Given the description of an element on the screen output the (x, y) to click on. 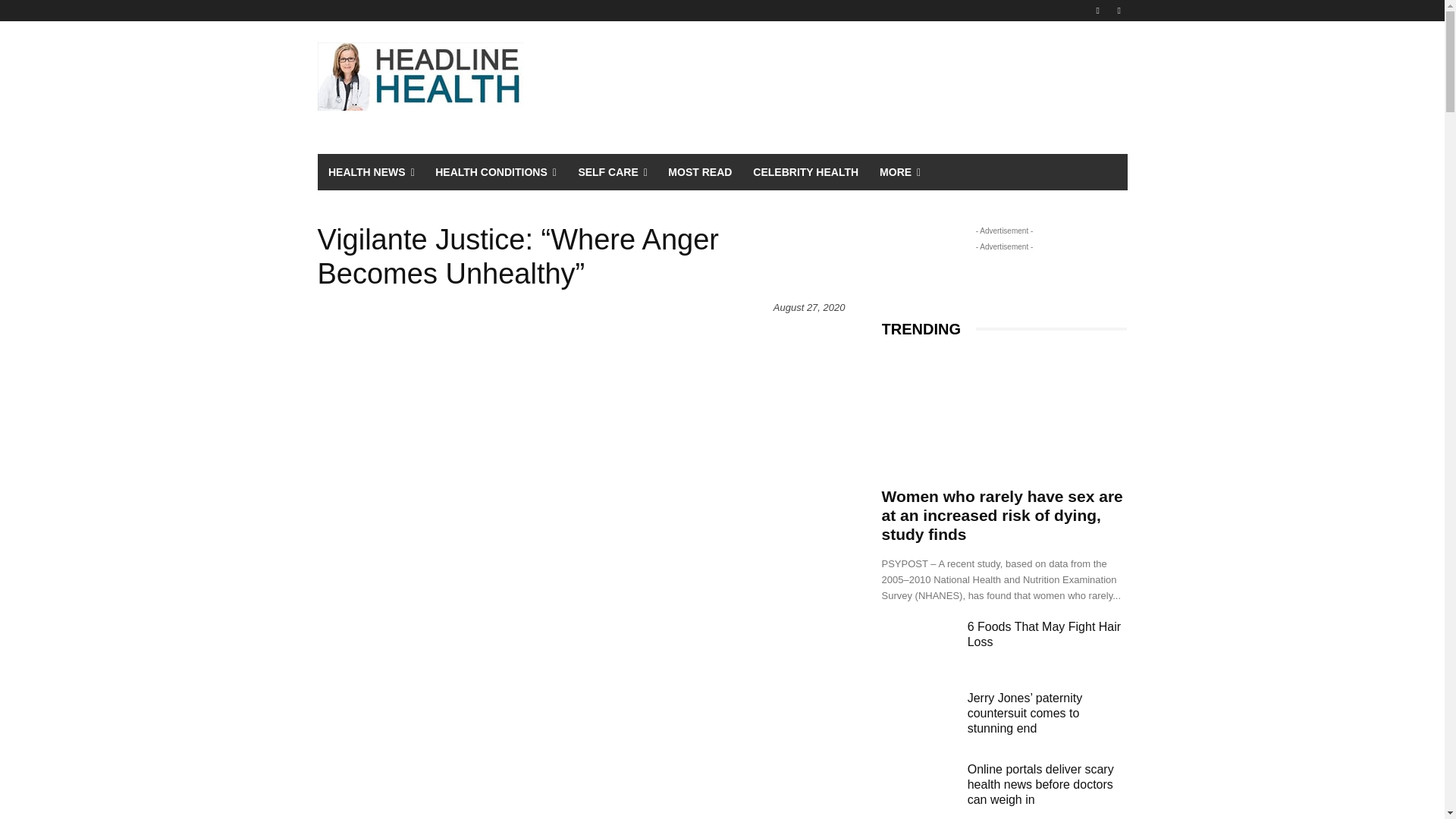
Twitter (1117, 9)
6 Foods That May Fight Hair Loss (917, 644)
Facebook (1097, 9)
